Given the description of an element on the screen output the (x, y) to click on. 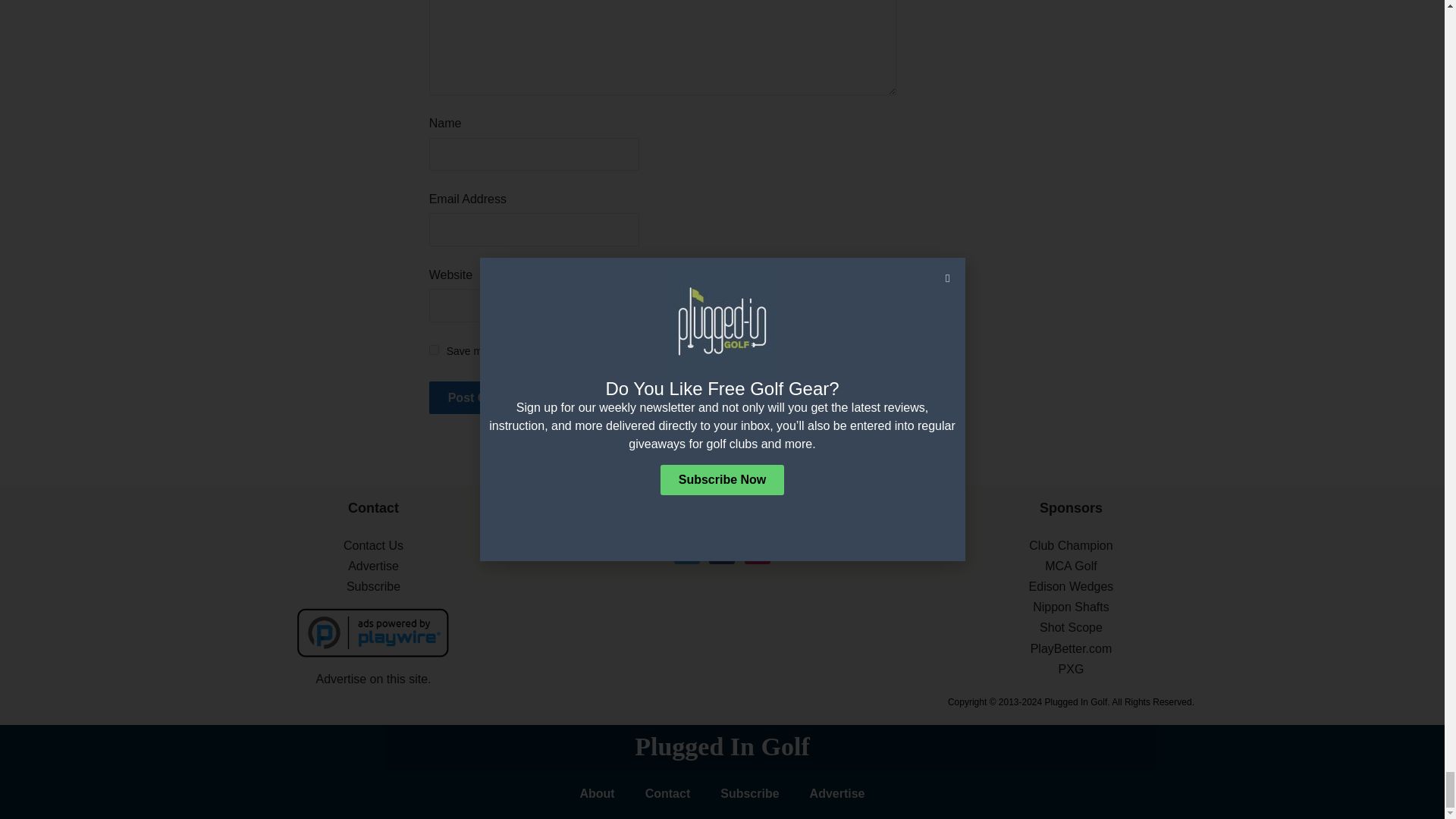
Instagram (757, 549)
Follow Me (687, 549)
Post Comment (491, 397)
Friend me on Facebook (722, 549)
yes (434, 349)
